Given the description of an element on the screen output the (x, y) to click on. 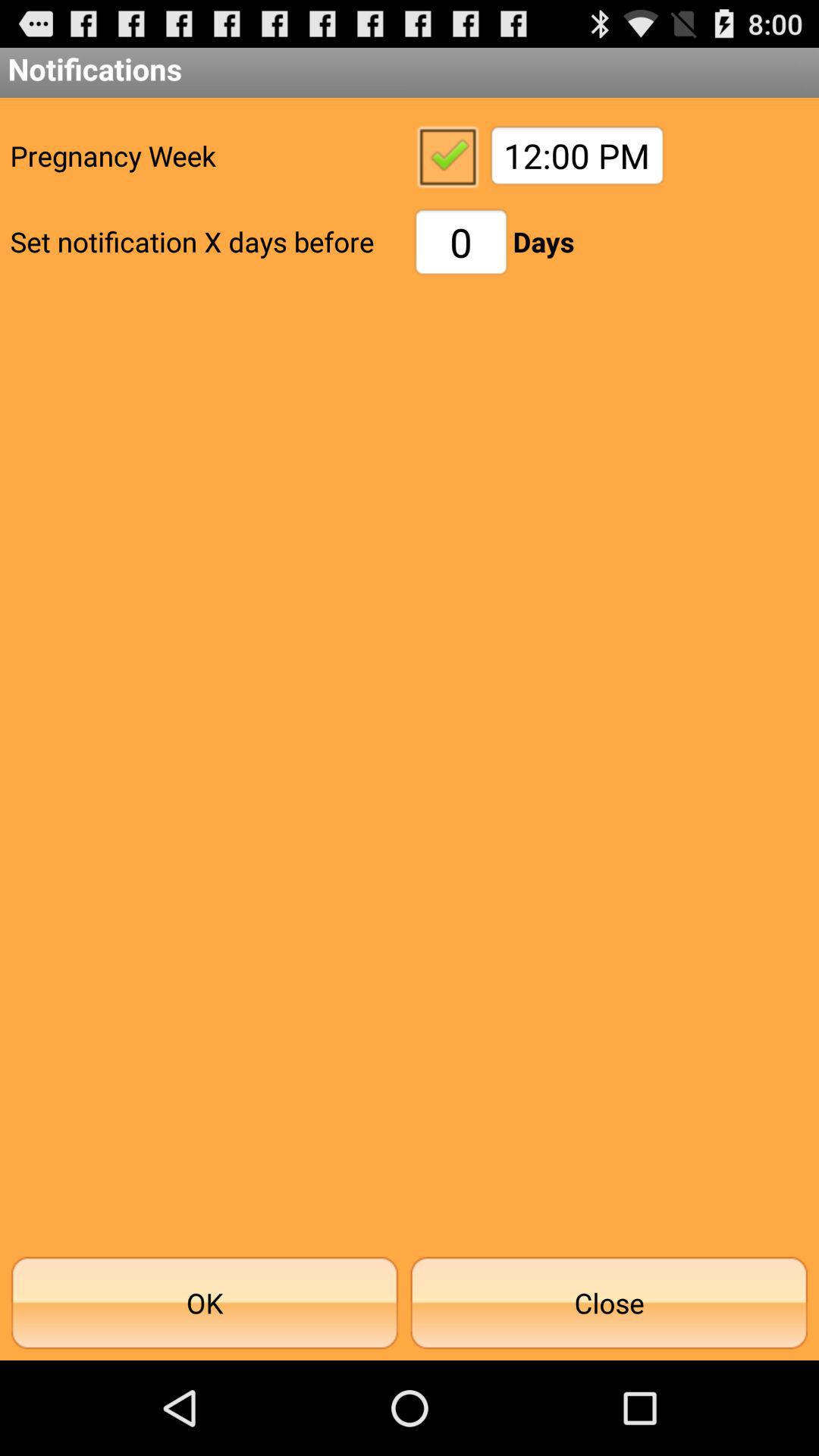
choose app next to the pregnancy week item (447, 155)
